Given the description of an element on the screen output the (x, y) to click on. 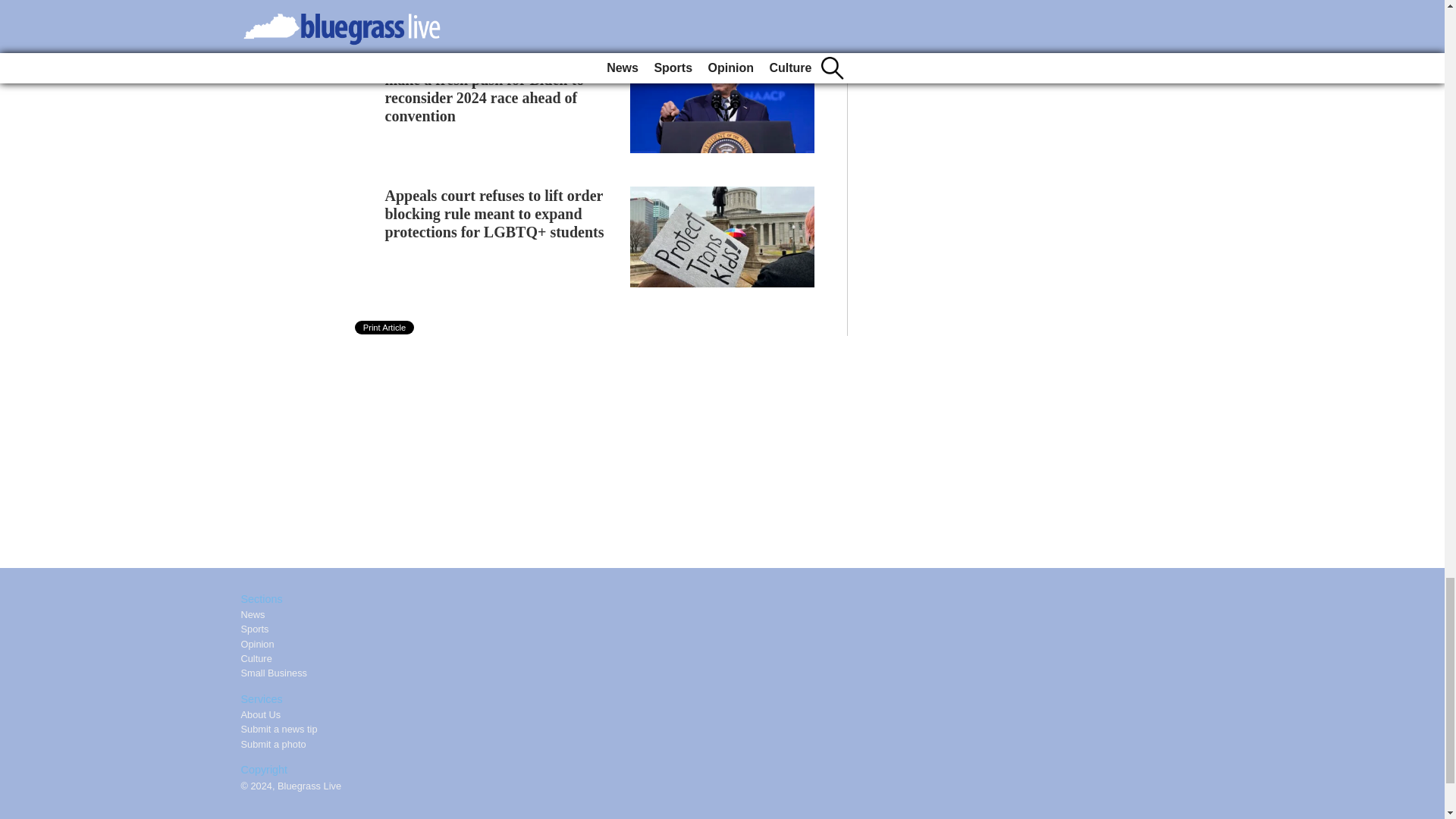
Opinion (258, 644)
Submit a news tip (279, 728)
News (252, 614)
Culture (256, 658)
Sports (255, 628)
Small Business (274, 672)
Print Article (384, 327)
About Us (261, 714)
Submit a photo (273, 744)
